Given the description of an element on the screen output the (x, y) to click on. 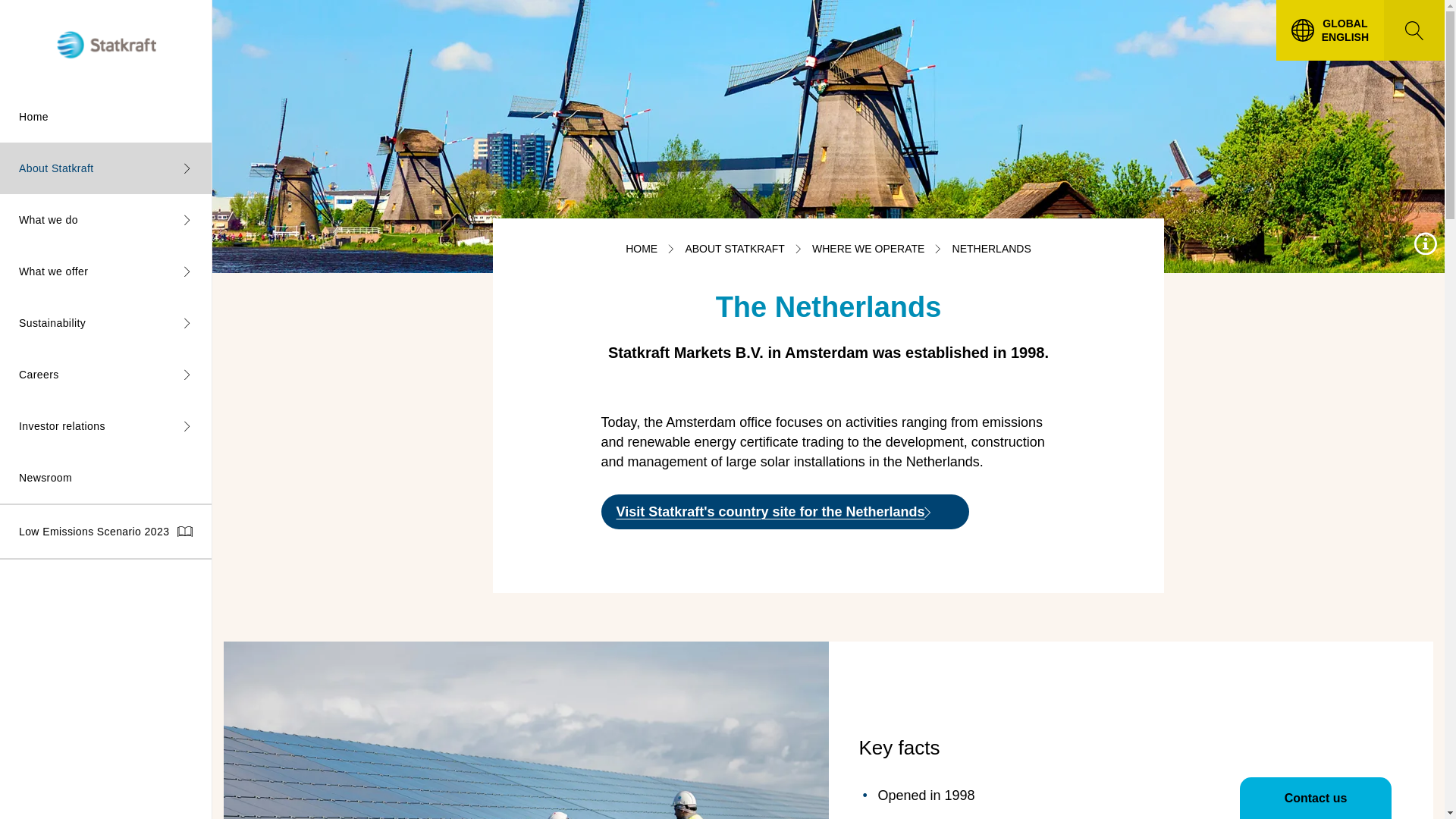
About Statkraft (105, 168)
Home (105, 116)
